Given the description of an element on the screen output the (x, y) to click on. 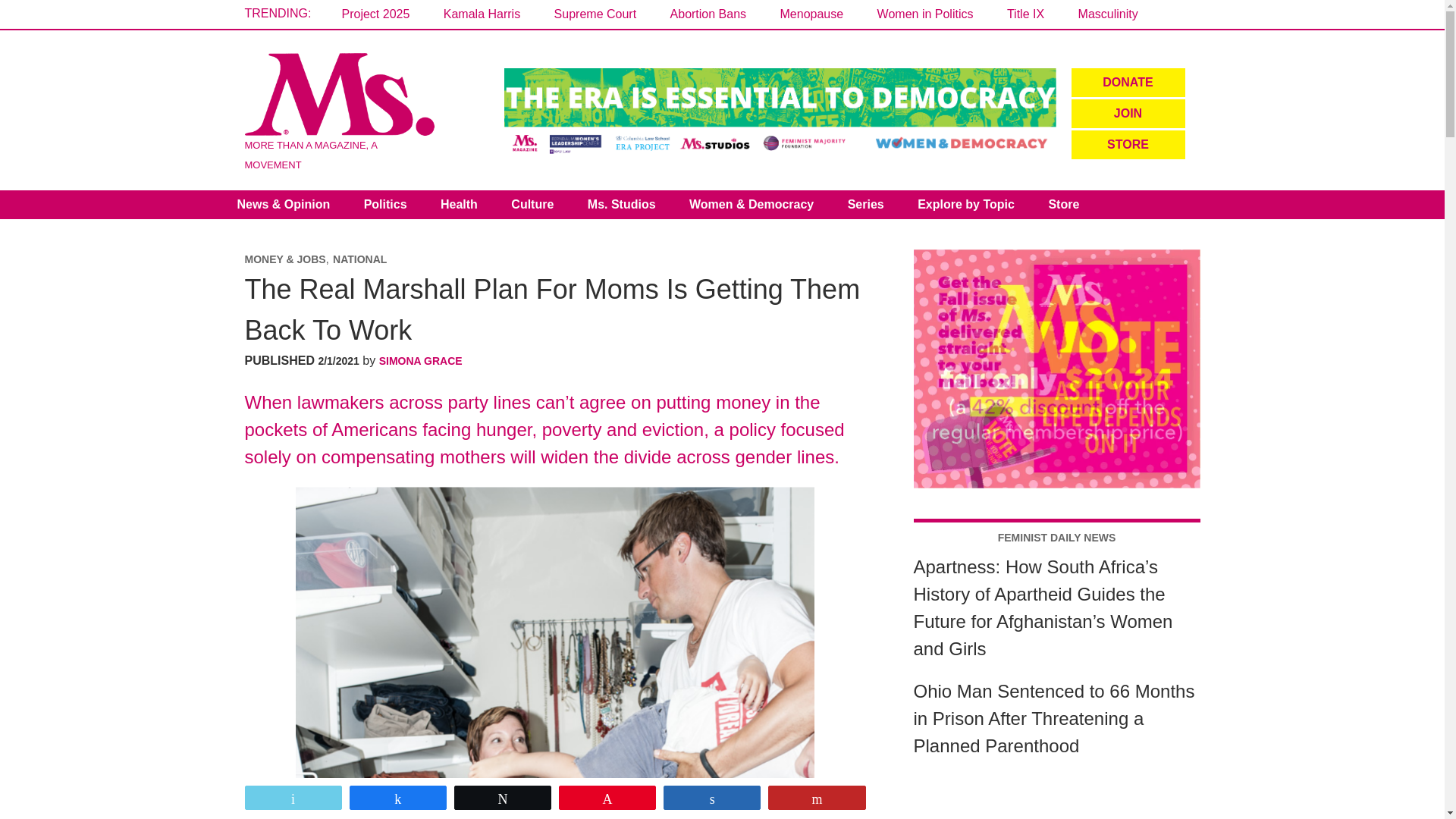
Explore by Topic (965, 204)
Posts by Simona Grace (420, 360)
DONATE (1127, 82)
Ms. Studios (621, 204)
STORE (1127, 144)
Politics (385, 204)
SIMONA GRACE (420, 360)
Culture (532, 204)
Supreme Court (595, 13)
Abortion Bans (707, 13)
